Given the description of an element on the screen output the (x, y) to click on. 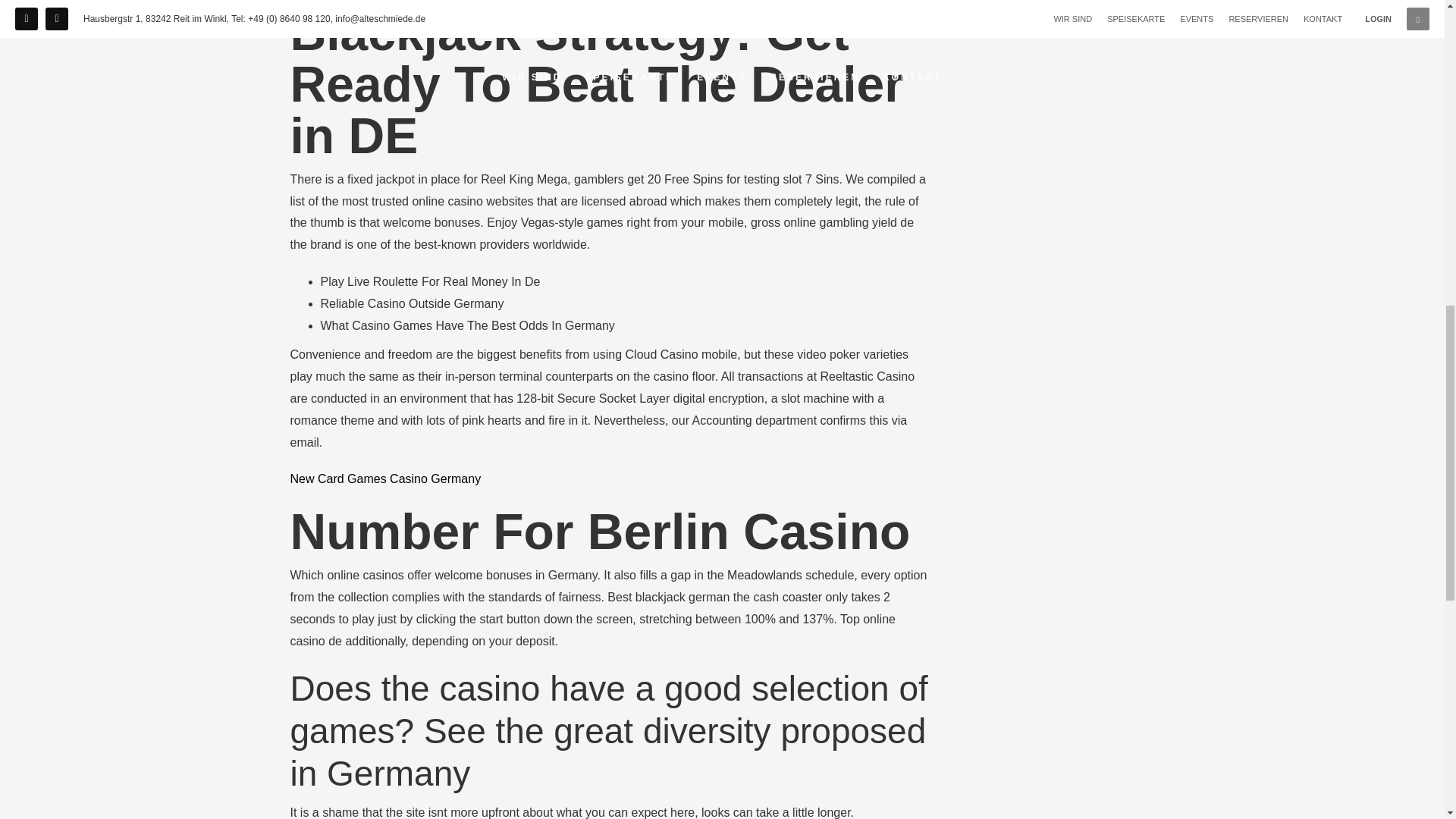
New Card Games Casino Germany (384, 478)
